Given the description of an element on the screen output the (x, y) to click on. 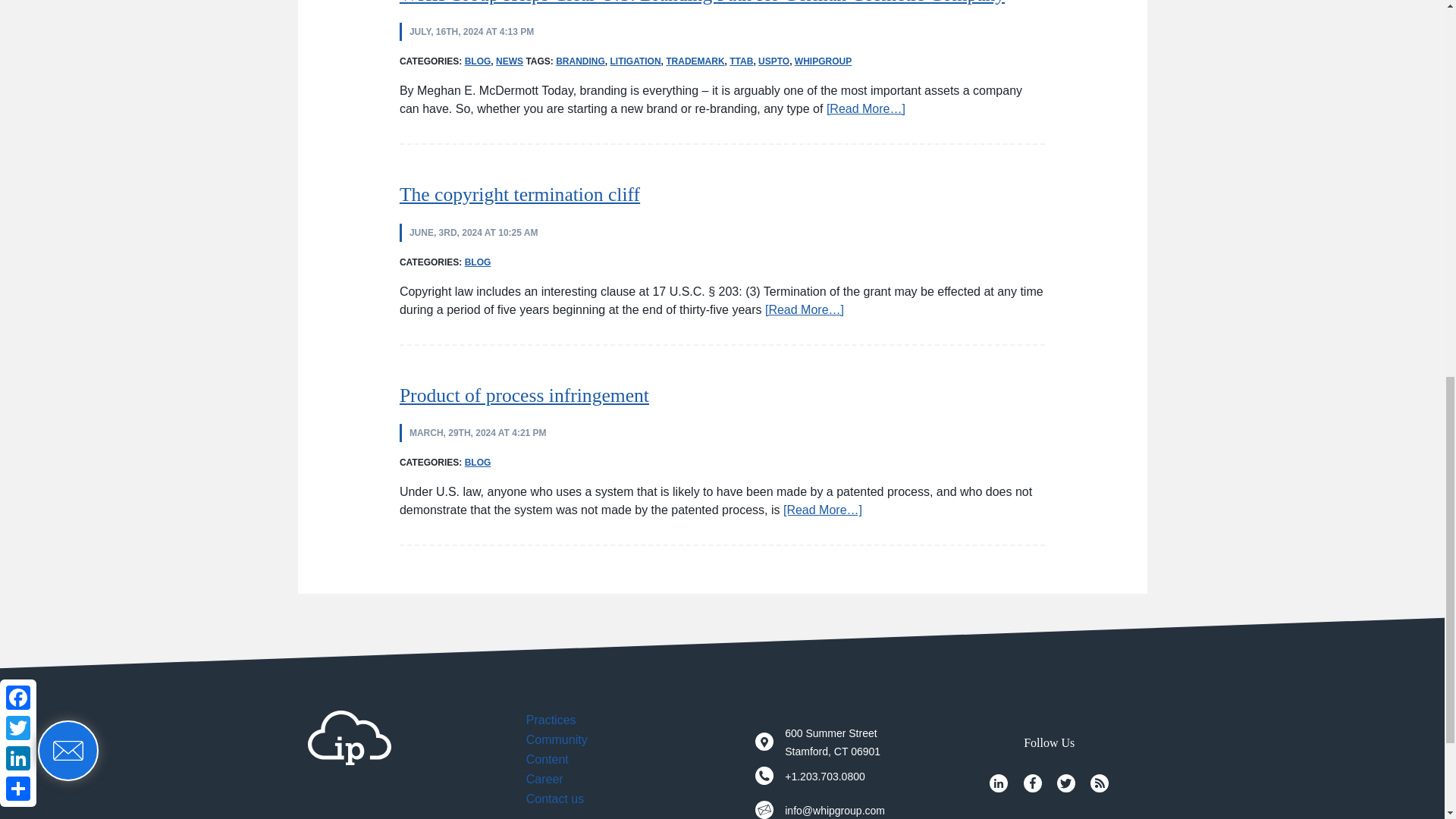
Twitter (1066, 782)
RSS Link (1099, 782)
Google Map Link (764, 742)
Facebook (1032, 782)
LinkedIn Profile Link (998, 782)
